Given the description of an element on the screen output the (x, y) to click on. 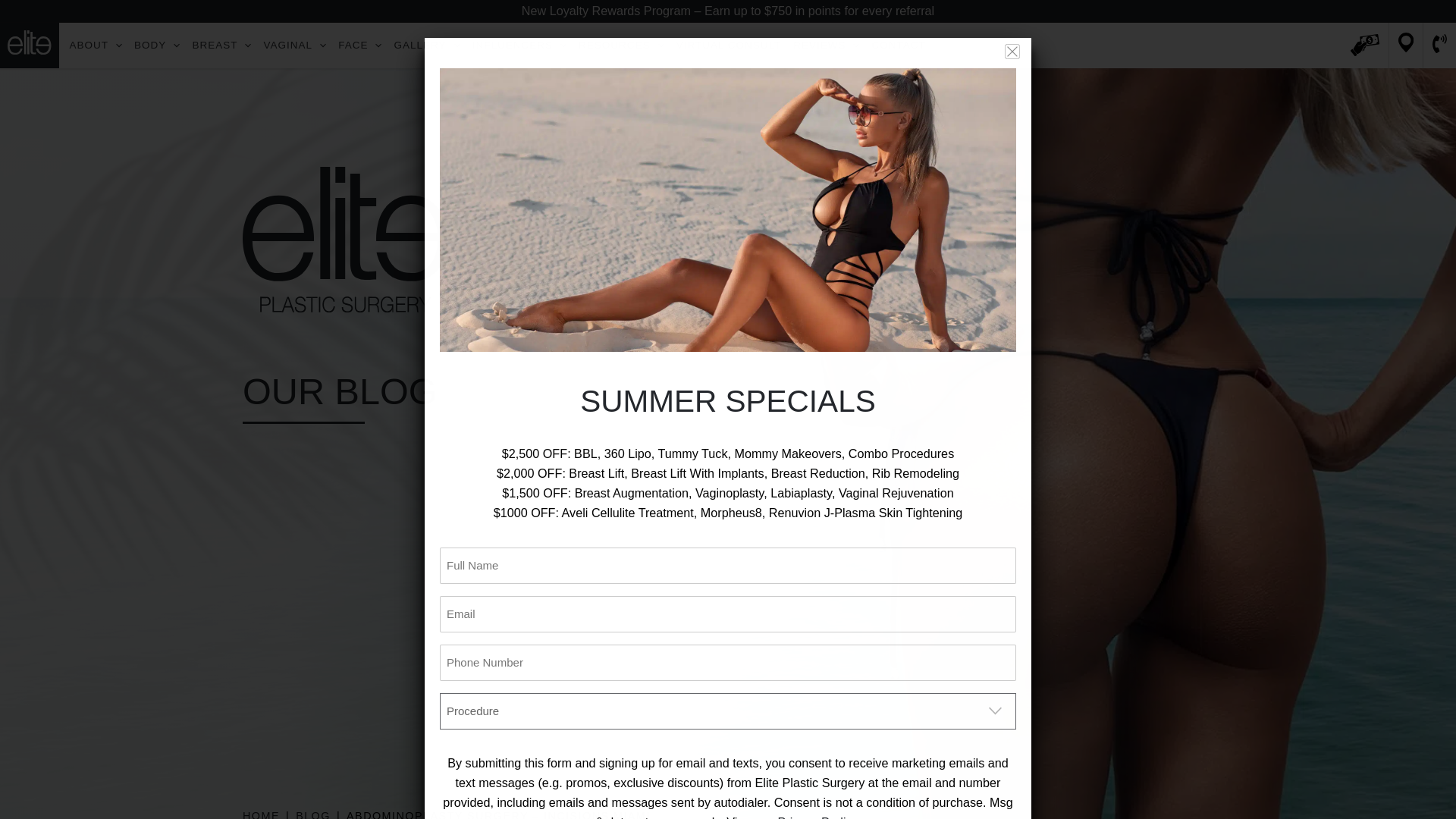
BREAST (221, 44)
ABOUT (96, 44)
BODY (157, 44)
Opens a widget where you can chat to one of our agents (1398, 792)
VAGINAL (295, 44)
